Given the description of an element on the screen output the (x, y) to click on. 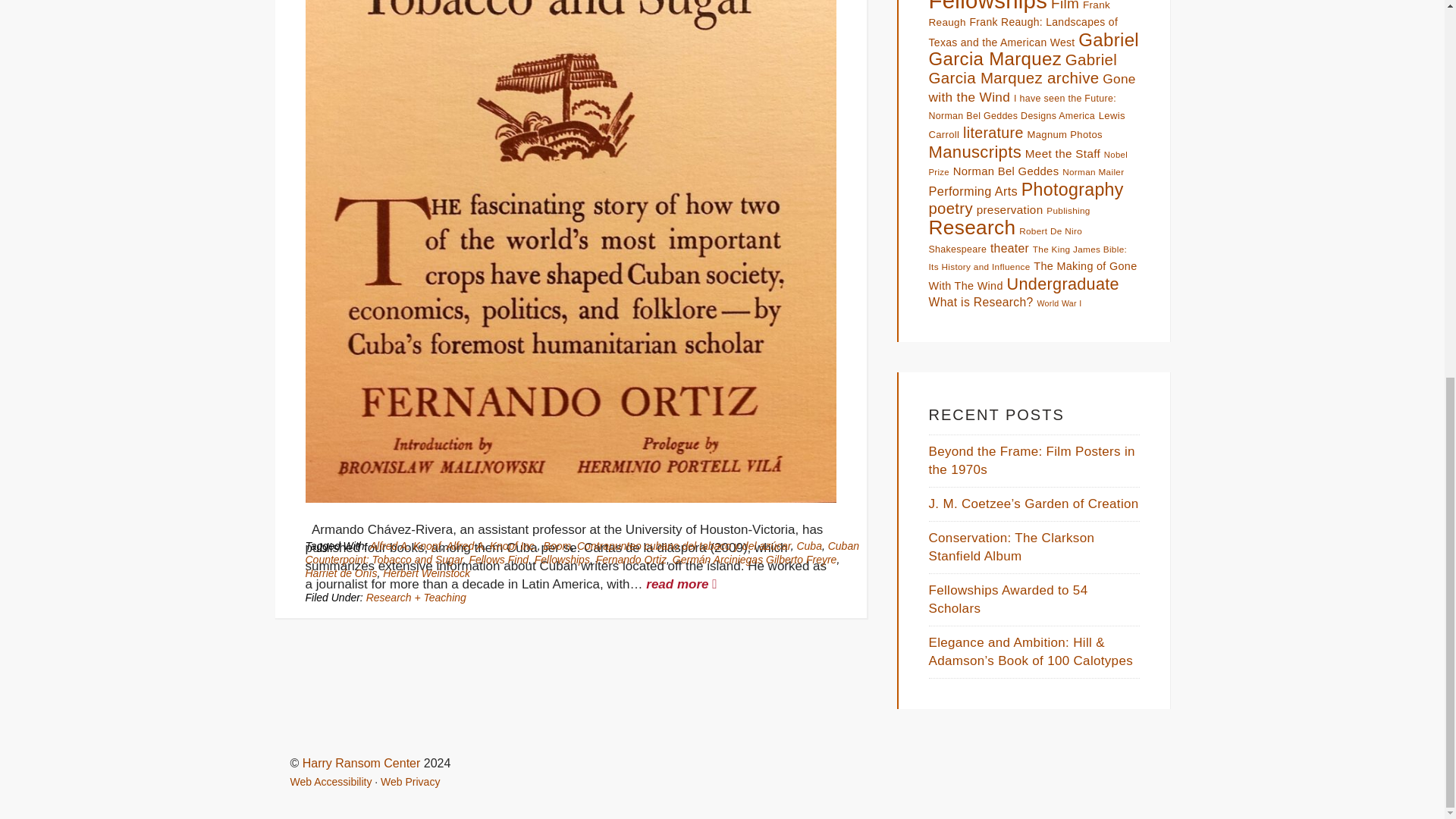
Cuba (808, 545)
Fellows Find (498, 559)
Herbert Weinstock (426, 573)
Boom (557, 545)
Fernando Ortiz (630, 559)
Alfred A. Knopf (405, 545)
Cuban Counterpoint: Tobacco and Sugar (581, 552)
Alfred A. Knopf Inc. (491, 545)
Fellowships (561, 559)
read more  (681, 584)
